Given the description of an element on the screen output the (x, y) to click on. 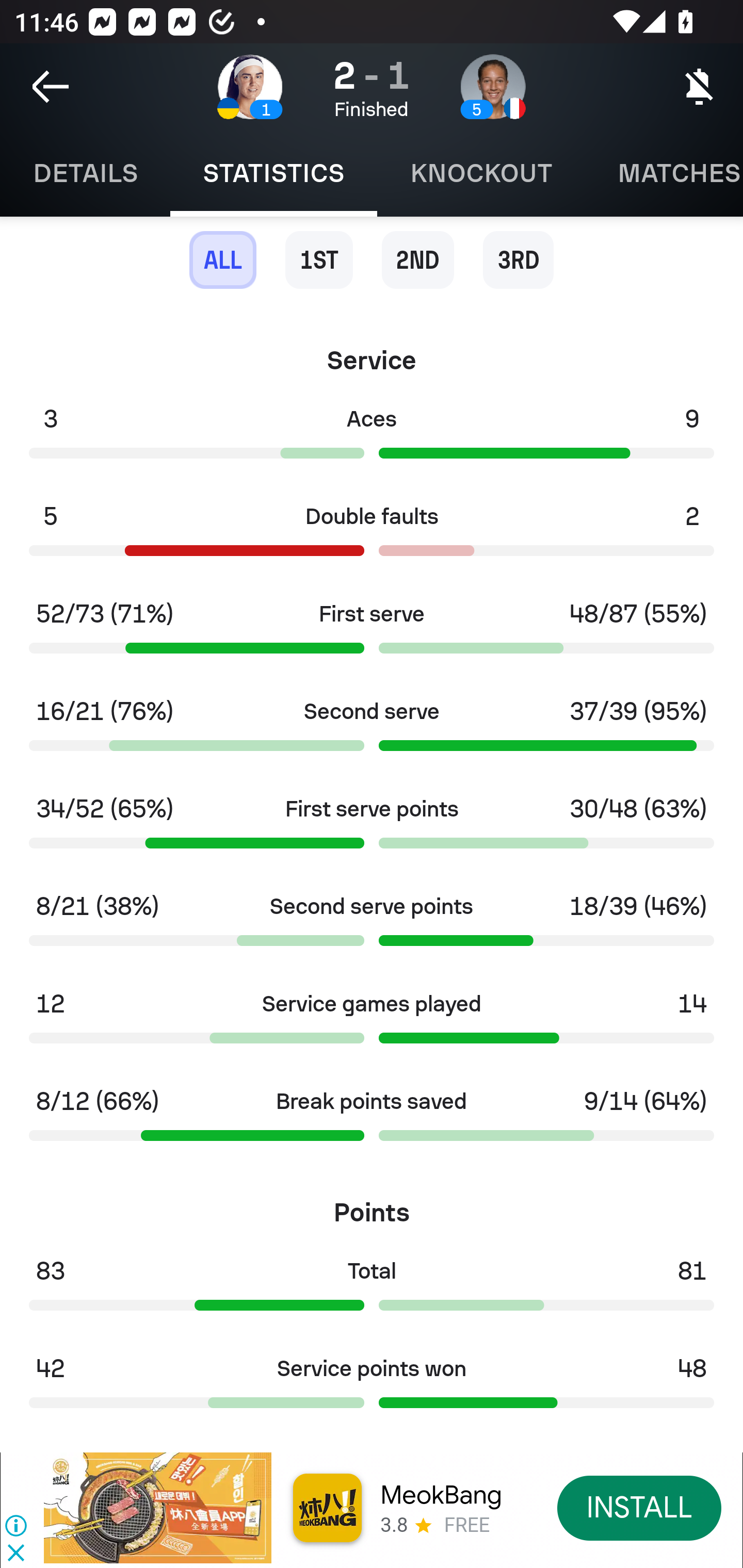
Navigate up (50, 86)
Details DETAILS (85, 173)
Knockout KNOCKOUT (480, 173)
Matches MATCHES (663, 173)
ALL (222, 259)
1ST (319, 259)
2ND (417, 259)
3RD (518, 259)
Service (371, 354)
3 Aces 9 250.0 750.0 (371, 438)
5 Double faults 2 714.0 285.0 (371, 535)
52/73 (71%) First serve 48/87 (55%) 712.0 551.0 (371, 633)
16/21 (76%) Second serve 37/39 (95%) 761.0 948.0 (371, 730)
12 Service games played 14 461.0 538.0 (371, 1023)
Points (371, 1205)
83 Total 81 506.0 493.0 (371, 1290)
42 Service points won 48 466.0 533.0 (371, 1387)
INSTALL (639, 1507)
MeokBang (440, 1494)
